Given the description of an element on the screen output the (x, y) to click on. 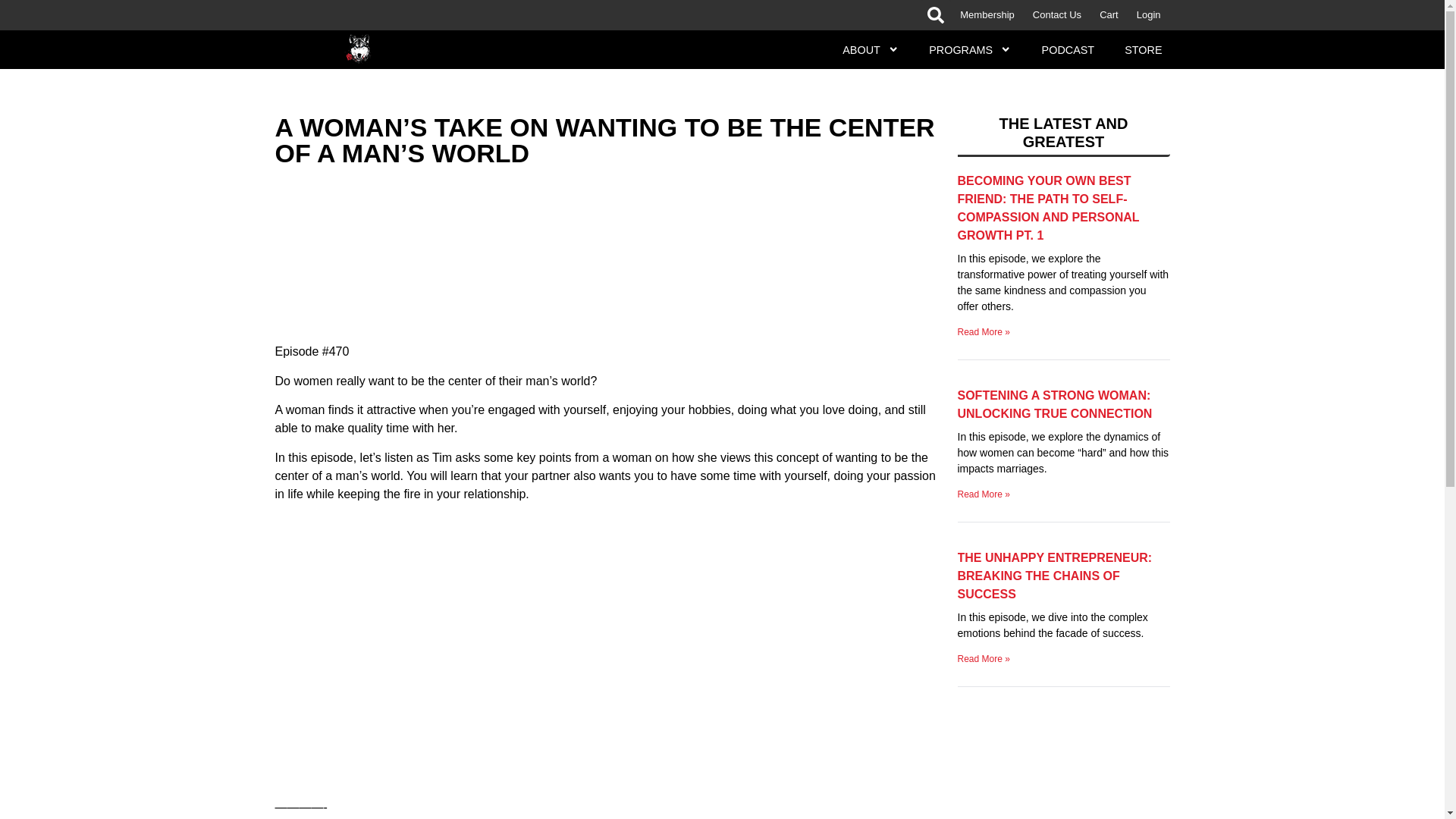
STORE (1142, 48)
ABOUT (870, 48)
Contact Us (1056, 15)
PROGRAMS (970, 48)
Membership (986, 15)
PODCAST (1067, 48)
Embed Player (608, 253)
Cart (1108, 15)
